Given the description of an element on the screen output the (x, y) to click on. 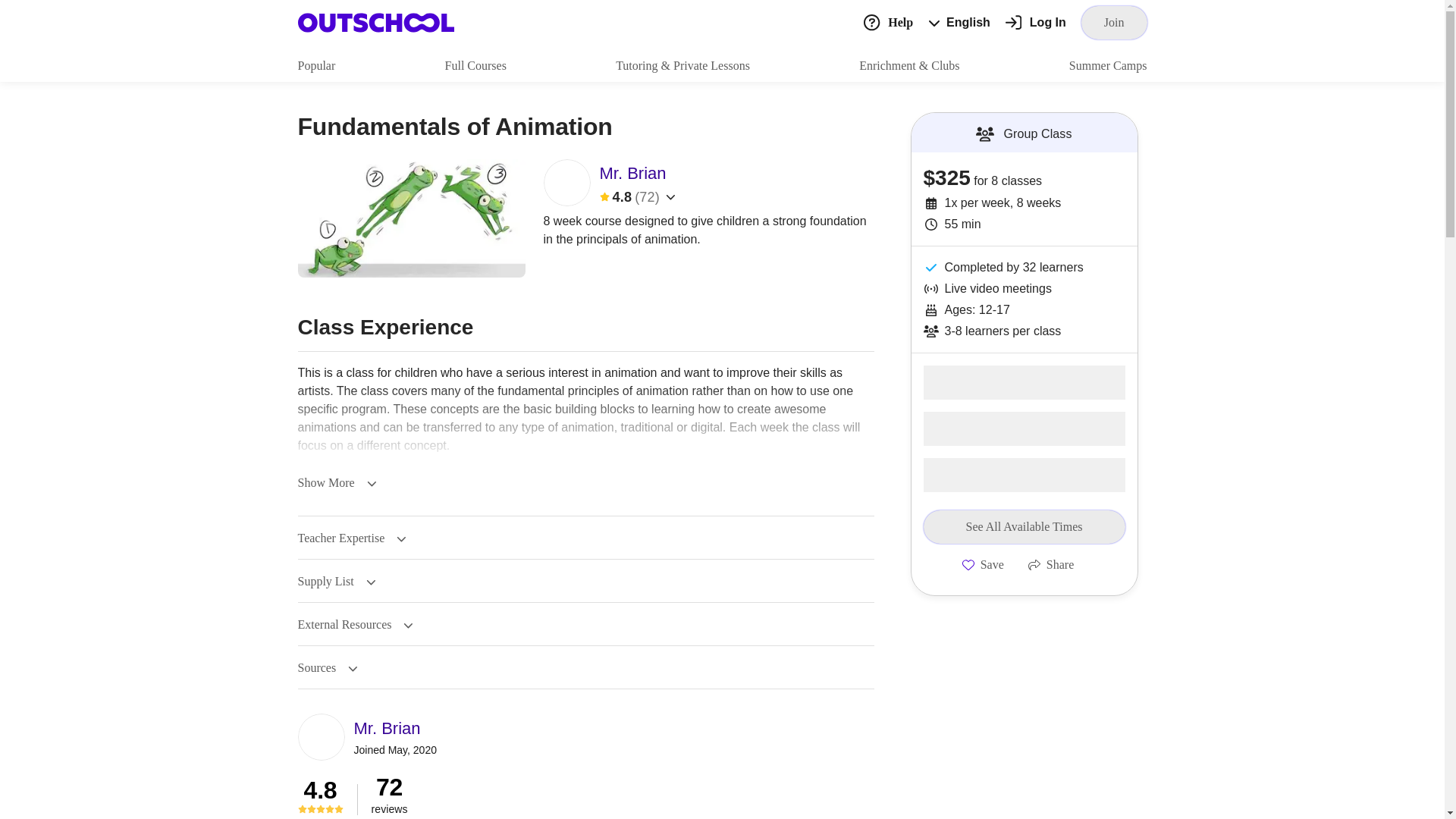
Show More (336, 482)
Join (1114, 22)
Supply List (336, 581)
Share (1051, 565)
See All Available Times (1024, 526)
Log In (1035, 22)
Teacher Expertise (351, 538)
Help (887, 21)
Mr. Brian (394, 728)
External Resources (355, 624)
Save (983, 565)
Popular (315, 65)
Summer Camps (1107, 65)
Full Courses (475, 65)
Sources (326, 667)
